Given the description of an element on the screen output the (x, y) to click on. 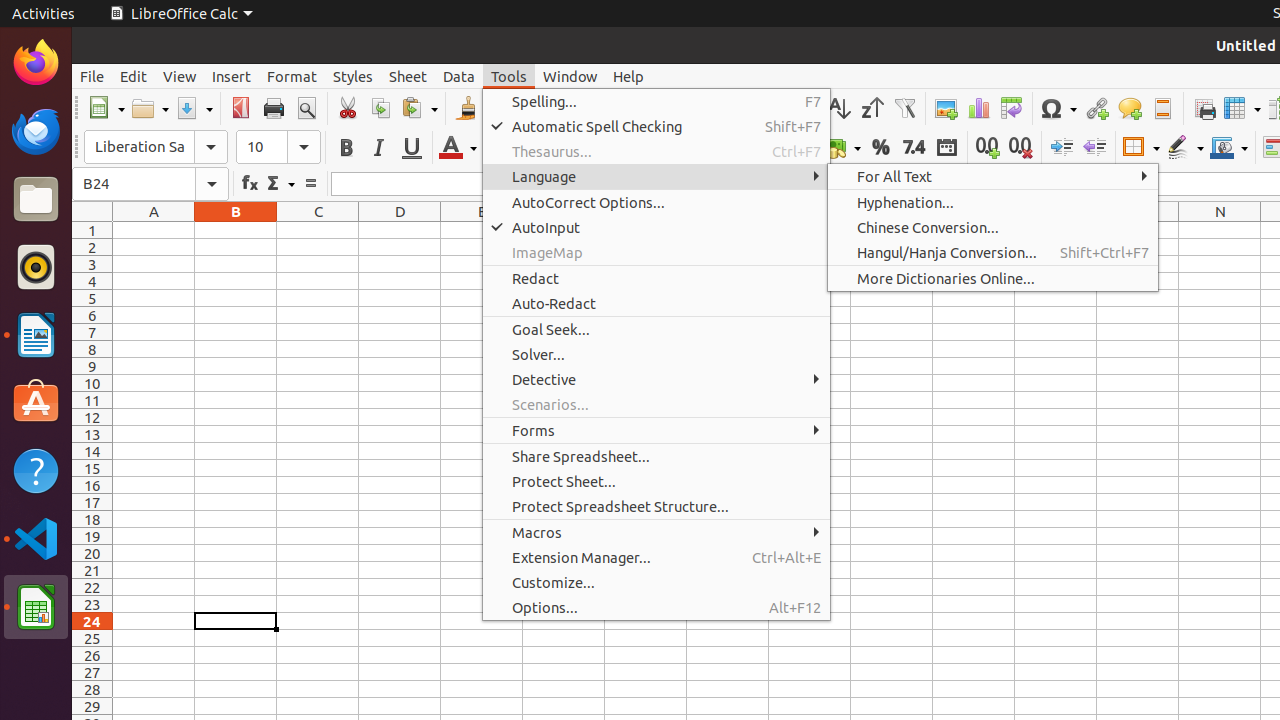
Open Element type: push-button (150, 108)
Font Name Element type: text (139, 147)
Headers and Footers Element type: push-button (1162, 108)
Chart Element type: push-button (978, 108)
